Given the description of an element on the screen output the (x, y) to click on. 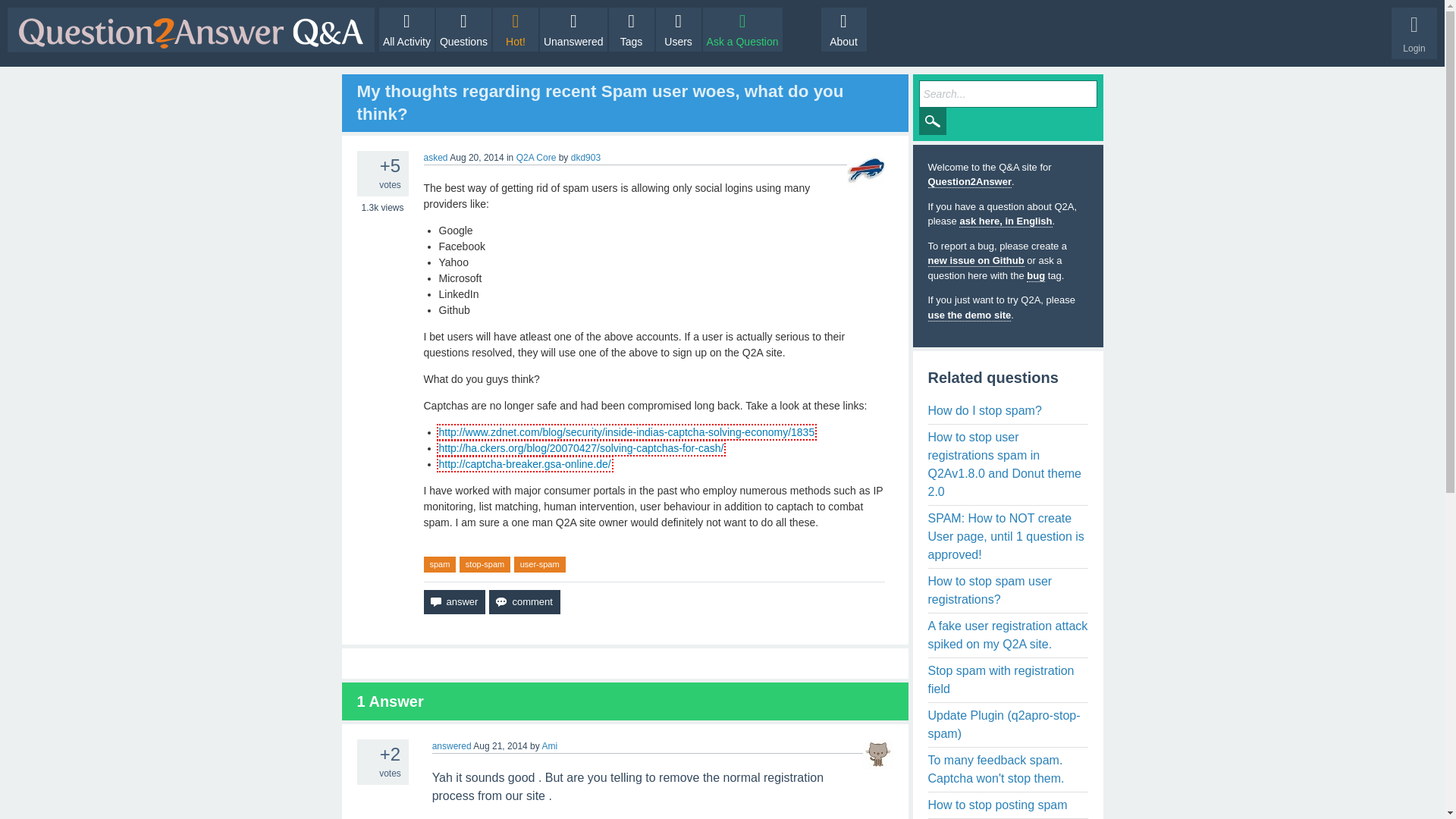
Add a comment on this question (524, 601)
Ask a Question (743, 29)
comment (524, 601)
answer (453, 601)
Q2A Core (536, 157)
dkd903 (584, 157)
Tags (630, 29)
answer (453, 601)
Click to vote down (365, 183)
stop-spam (485, 564)
Search (932, 121)
comment (524, 601)
Click to vote up (365, 751)
Users (678, 29)
